Given the description of an element on the screen output the (x, y) to click on. 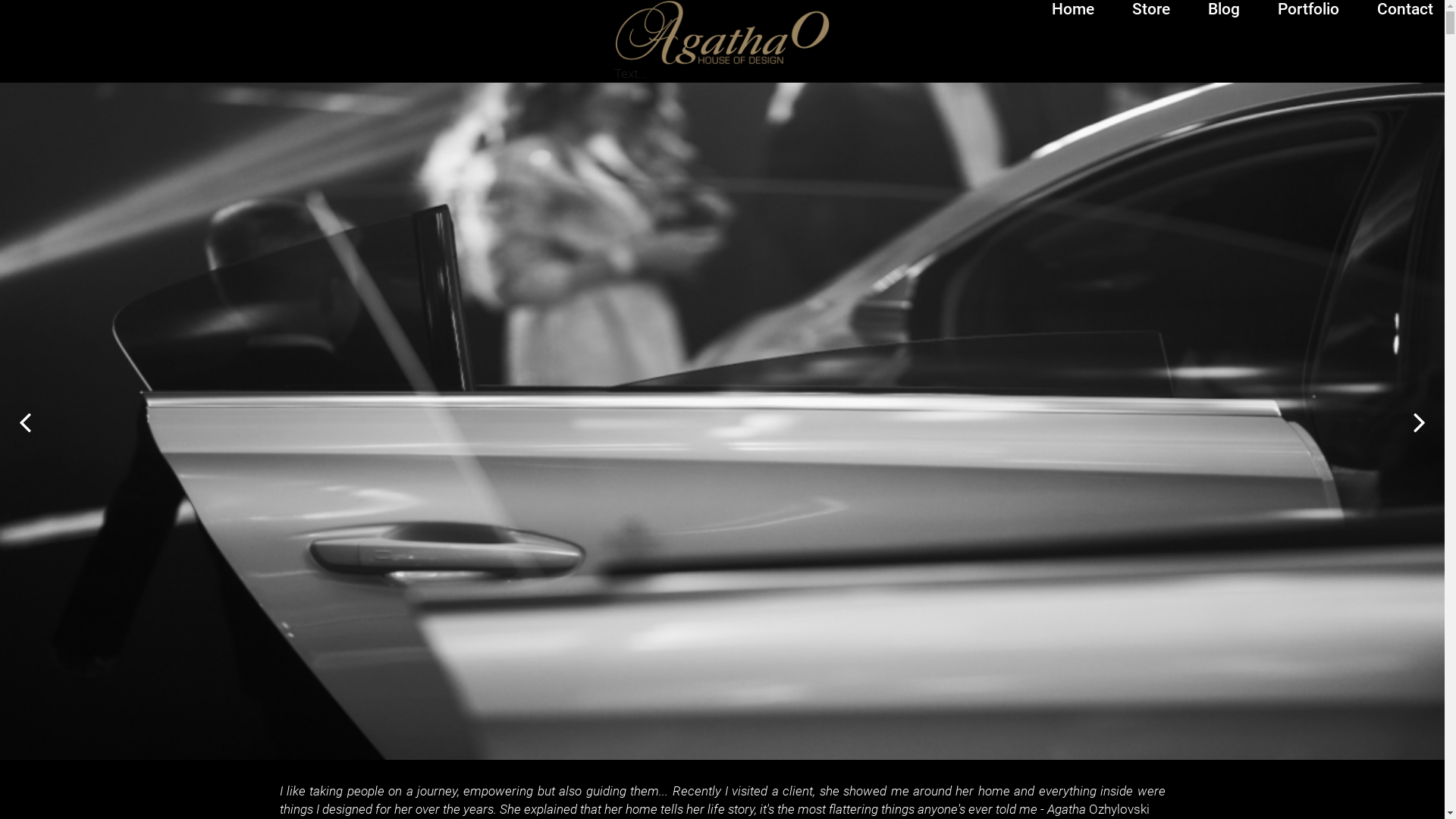
Store Element type: text (1151, 9)
Contact Element type: text (1405, 9)
Blog Element type: text (1223, 9)
Next Element type: text (1418, 421)
Portfolio Element type: text (1308, 9)
Home Element type: text (1072, 9)
Prev Element type: text (26, 421)
